Given the description of an element on the screen output the (x, y) to click on. 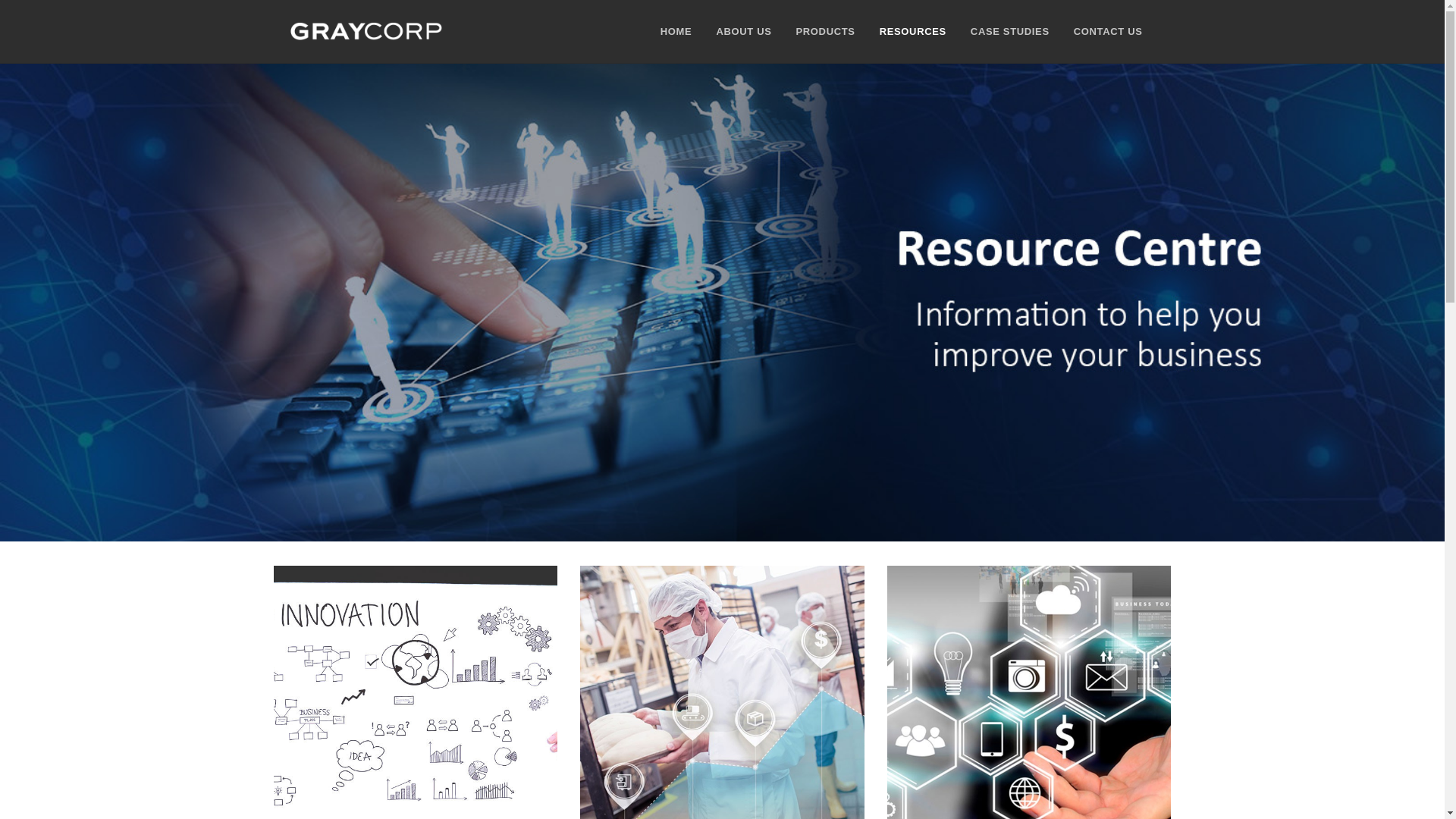
PRODUCTS Element type: text (825, 31)
CONTACT US Element type: text (1107, 31)
CASE STUDIES Element type: text (1009, 31)
RESOURCES Element type: text (912, 31)
ABOUT US Element type: text (743, 31)
HOME Element type: text (676, 31)
